Given the description of an element on the screen output the (x, y) to click on. 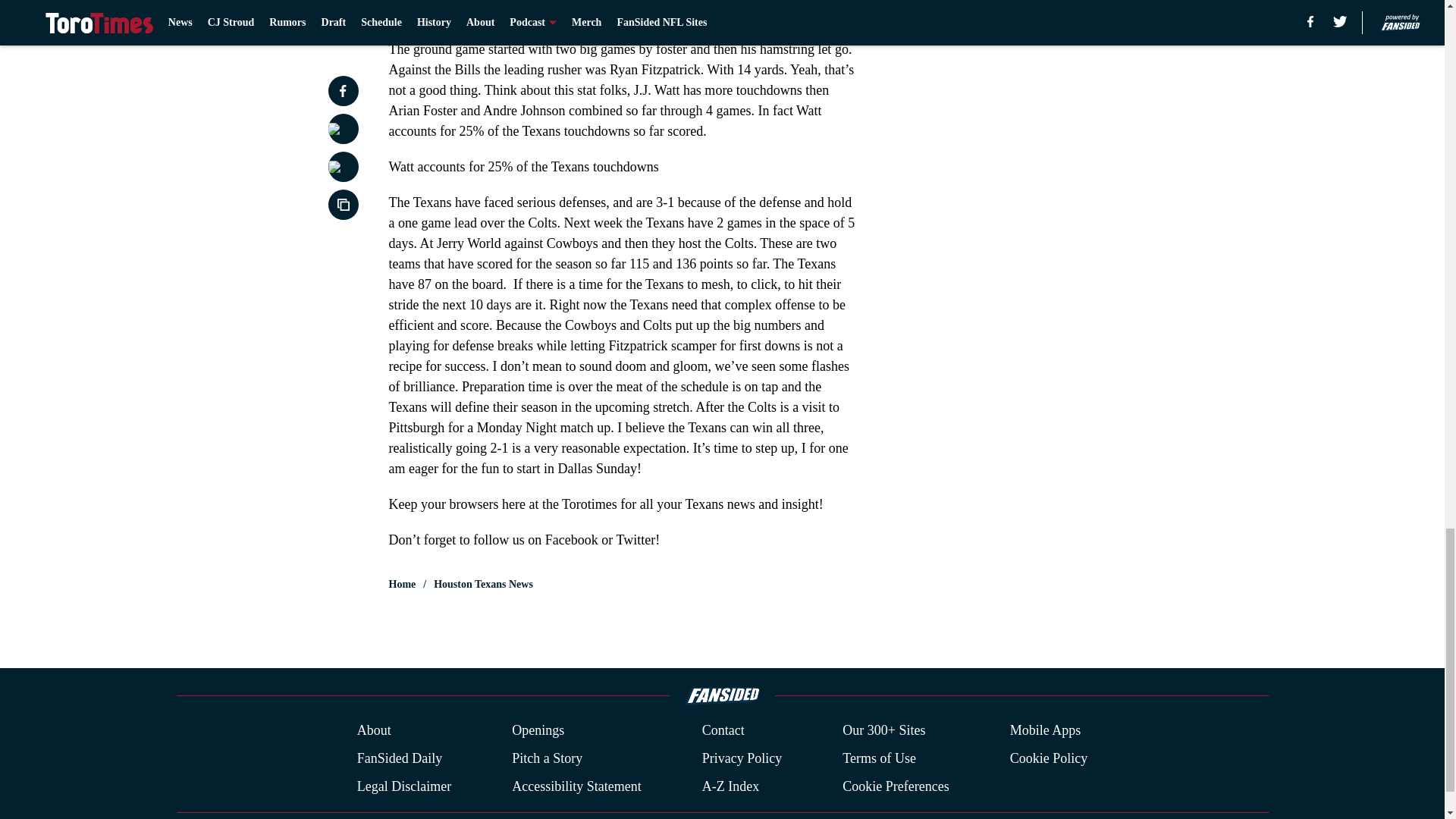
Terms of Use (879, 758)
Openings (538, 730)
Legal Disclaimer (403, 786)
Houston Texans News (482, 584)
Accessibility Statement (576, 786)
Mobile Apps (1045, 730)
Cookie Policy (1048, 758)
FanSided Daily (399, 758)
Contact (722, 730)
Home (401, 584)
